Given the description of an element on the screen output the (x, y) to click on. 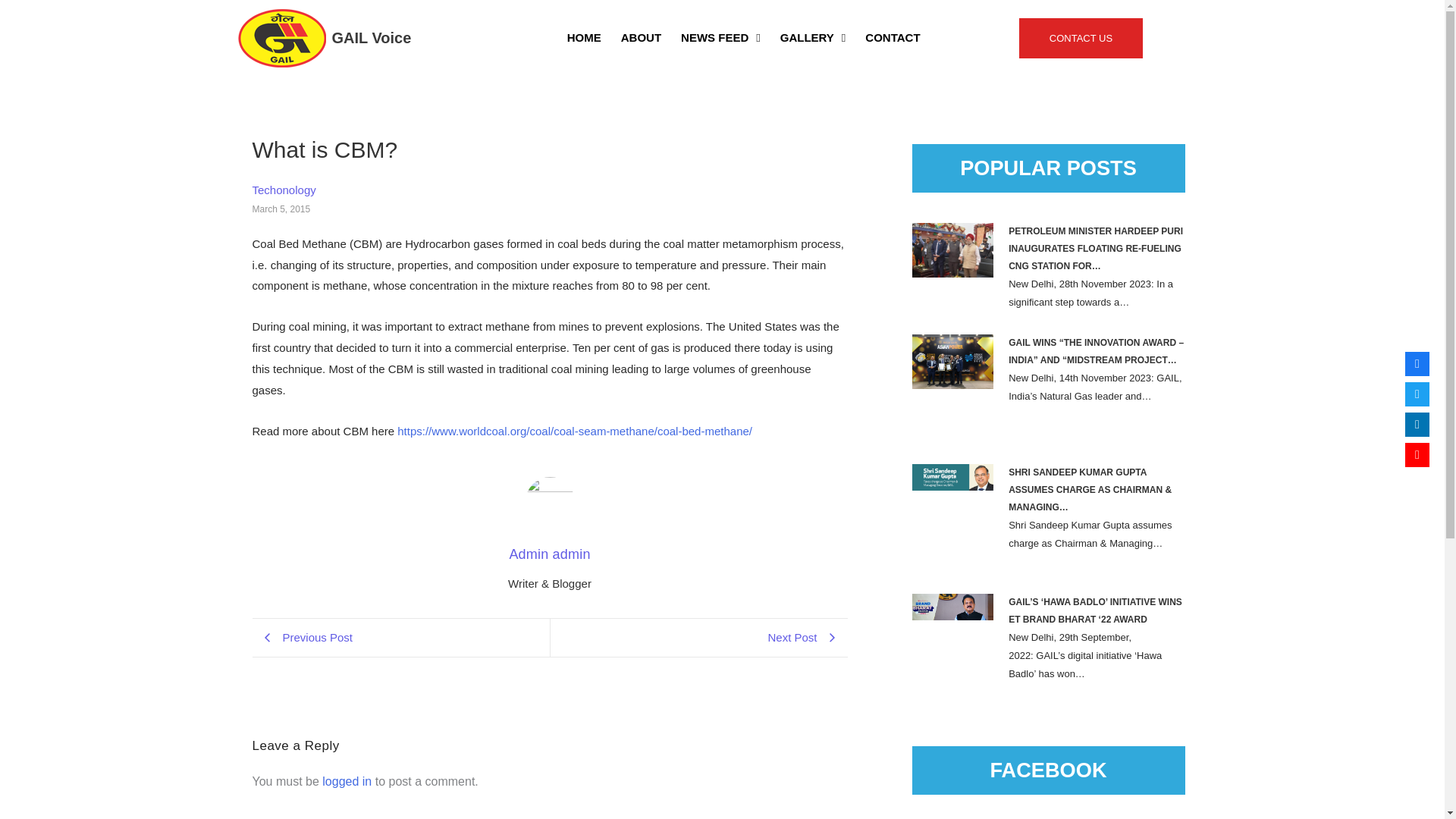
LinkedIn (1417, 424)
Youtube (1417, 454)
Facebook (1417, 363)
CONTACT (893, 37)
NEWS FEED (720, 37)
ABOUT (641, 37)
CONTACT US (1080, 38)
Twitter (1417, 394)
HOME (584, 37)
GALLERY (813, 37)
GAIL Voice (371, 36)
